Given the description of an element on the screen output the (x, y) to click on. 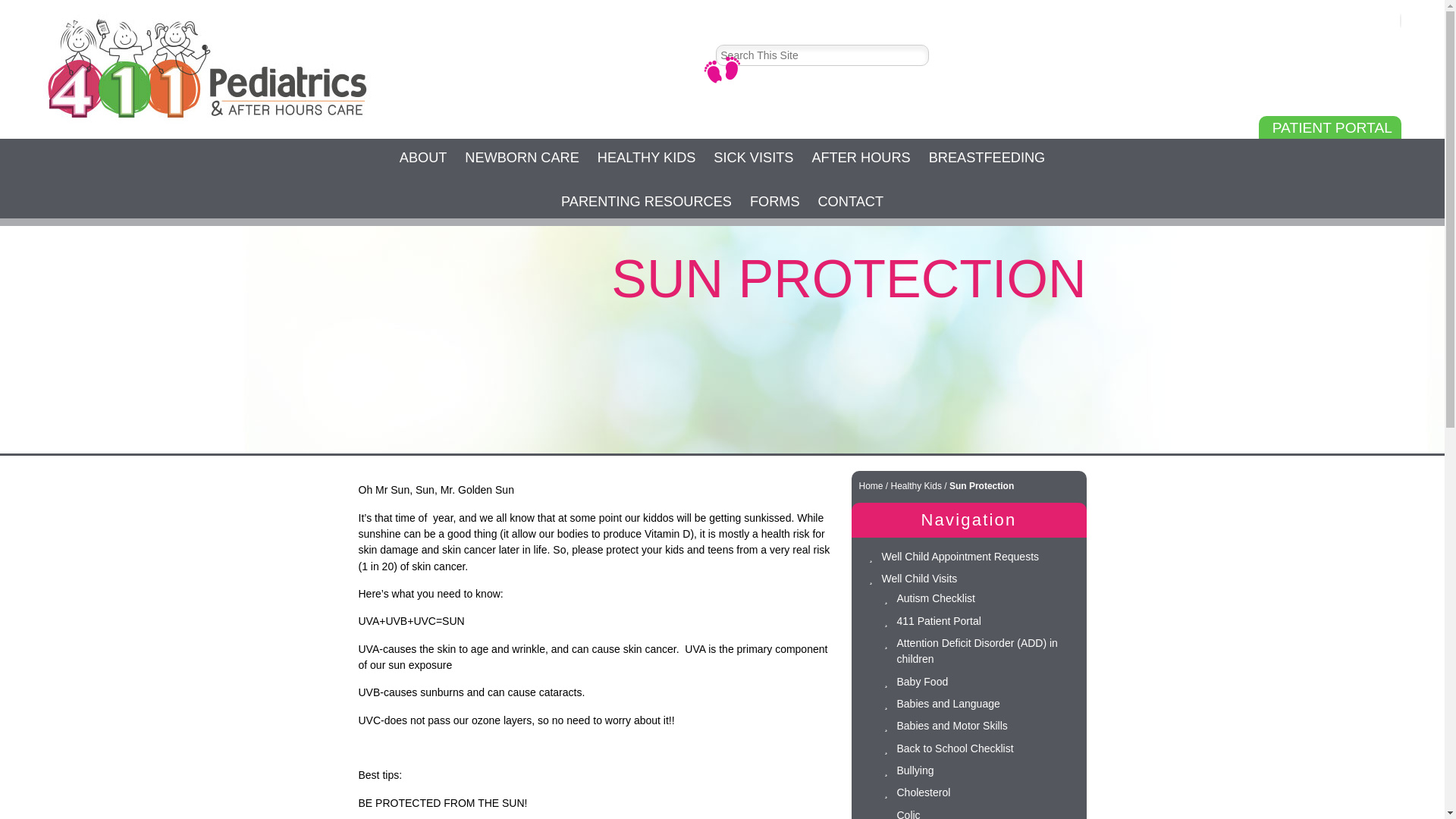
PATIENT PORTAL (1329, 127)
Well Child Appointment Requests (959, 556)
Babies and Language (947, 703)
Bullying (914, 770)
411 Patient Portal (937, 621)
411 Pediatrics (207, 68)
Home (870, 485)
ABOUT (422, 160)
HEALTHY KIDS (646, 160)
Healthy Kids (916, 485)
